Given the description of an element on the screen output the (x, y) to click on. 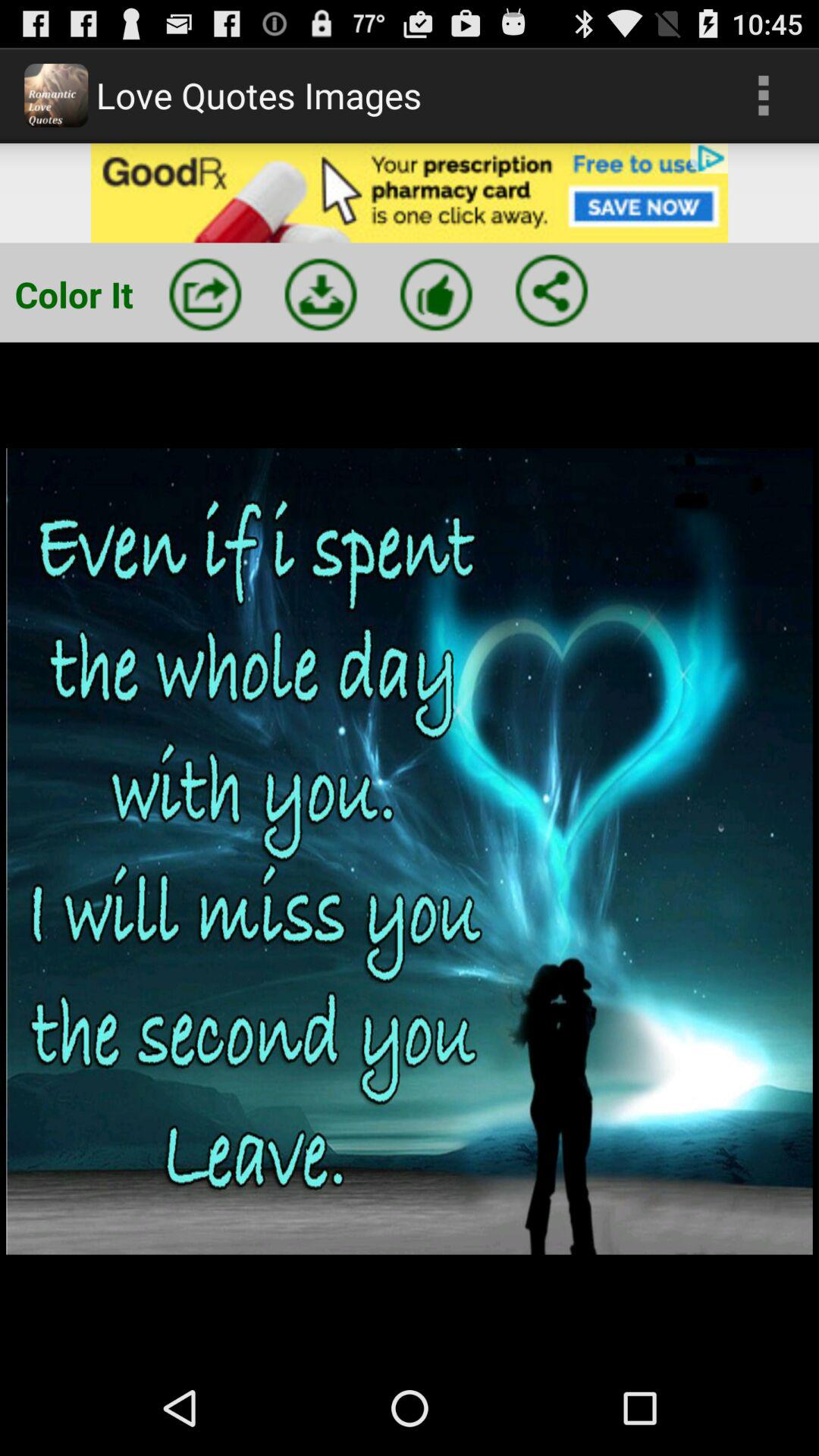
share the article (551, 290)
